Given the description of an element on the screen output the (x, y) to click on. 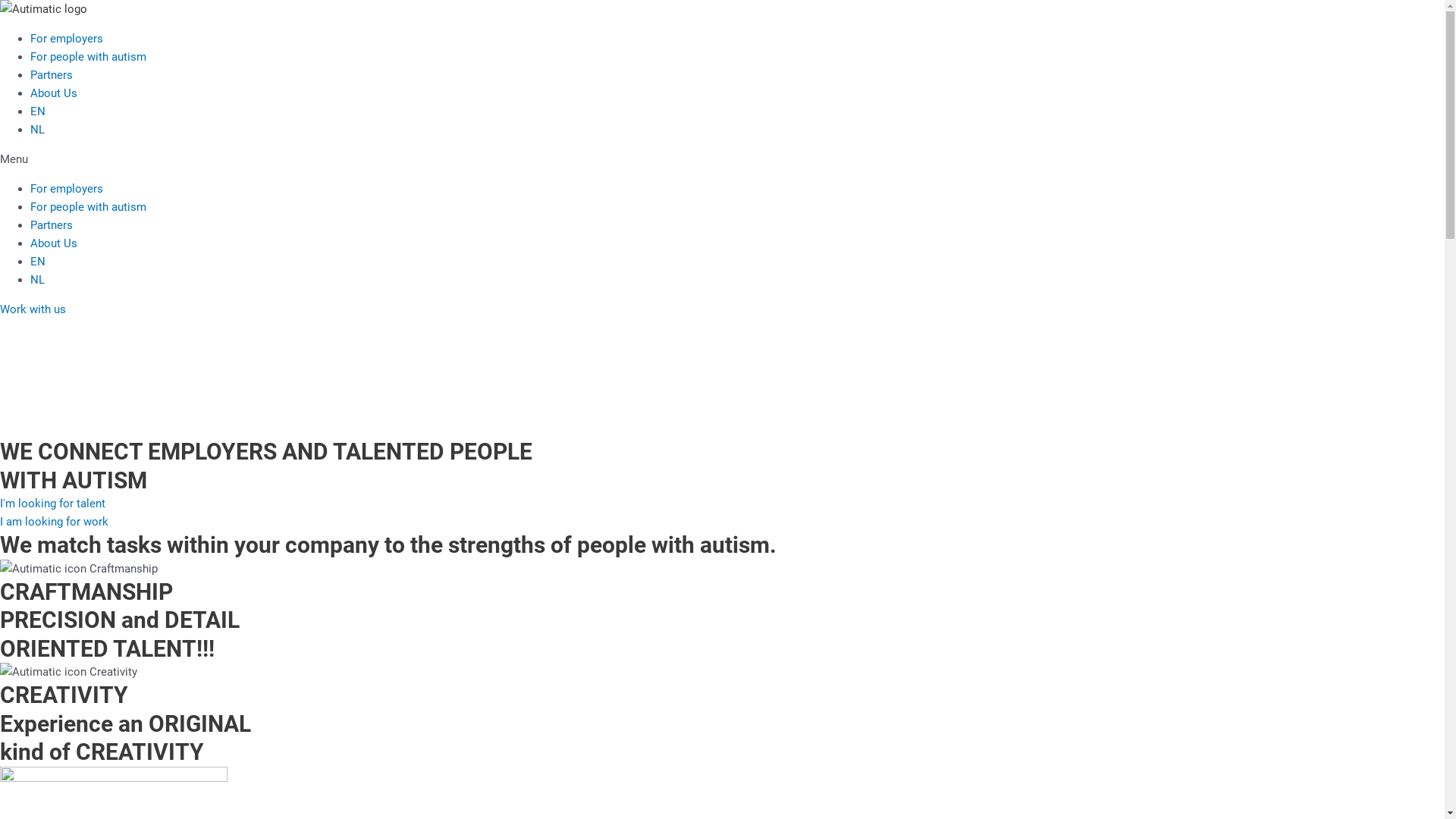
Partners Element type: text (51, 74)
For employers Element type: text (66, 38)
EN Element type: text (37, 261)
For people with autism Element type: text (88, 56)
For people with autism Element type: text (88, 206)
About Us Element type: text (53, 93)
I am looking for work Element type: text (54, 521)
About Us Element type: text (53, 243)
EN Element type: text (37, 111)
Partners Element type: text (51, 225)
Work with us Element type: text (32, 309)
I'm looking for talent Element type: text (52, 503)
For employers Element type: text (66, 188)
NL Element type: text (37, 129)
NL Element type: text (37, 279)
